Given the description of an element on the screen output the (x, y) to click on. 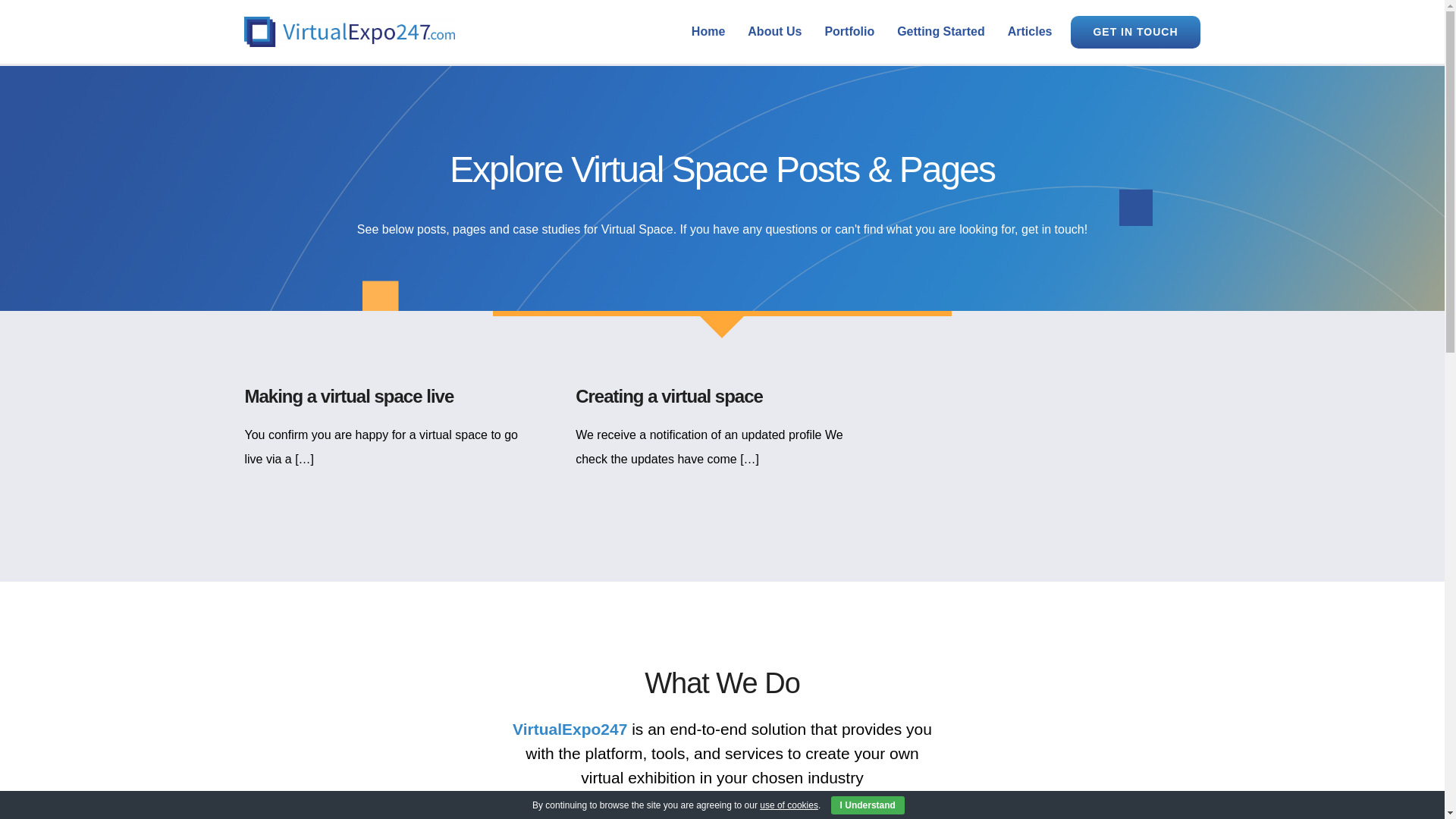
Getting Started (940, 31)
Home (708, 31)
GET IN TOUCH (1134, 31)
I Understand (867, 805)
Portfolio (849, 31)
Articles (1030, 31)
About Us (774, 31)
use of cookies (789, 805)
